Given the description of an element on the screen output the (x, y) to click on. 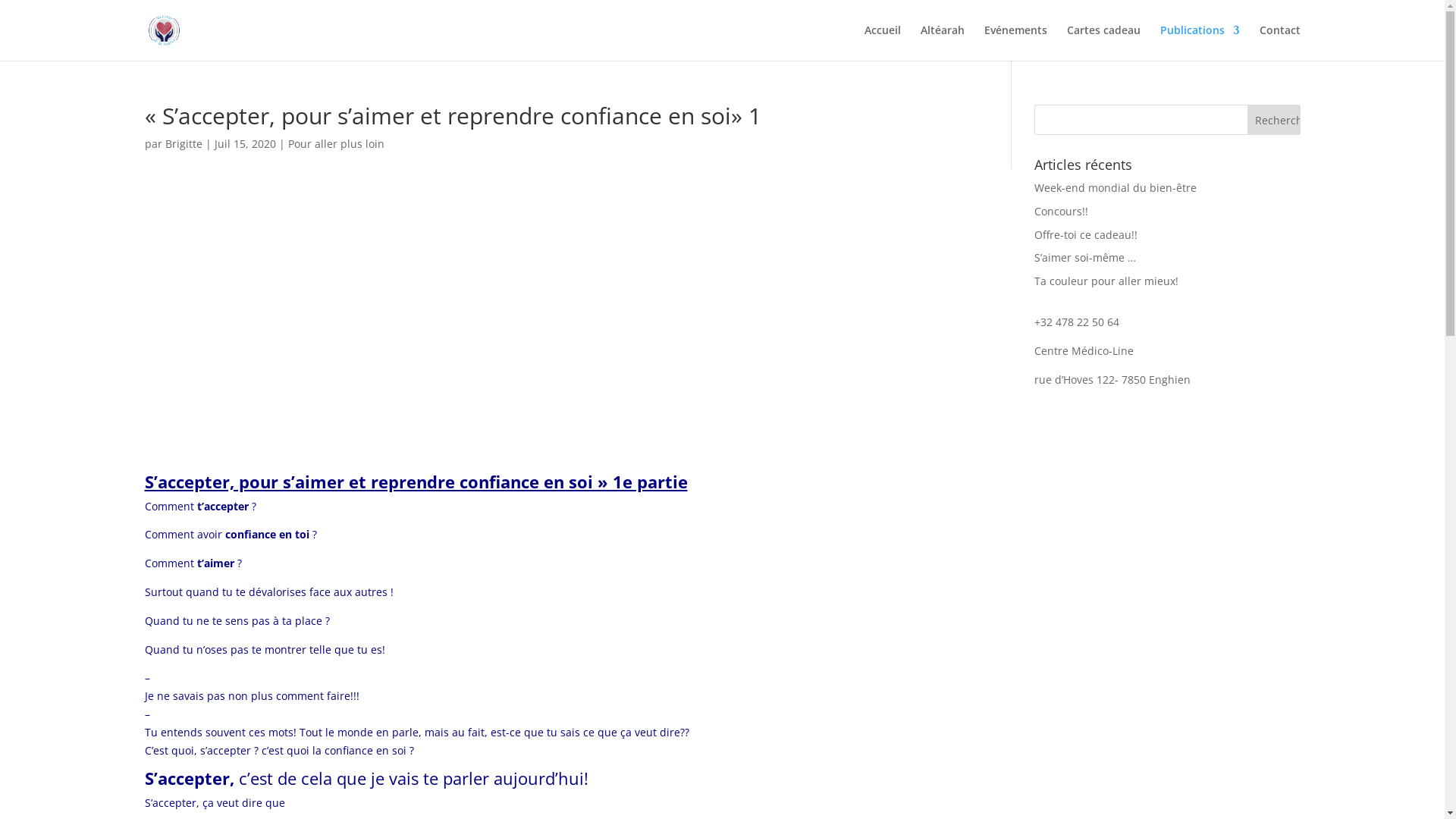
Ta couleur pour aller mieux! Element type: text (1106, 280)
Cartes cadeau Element type: text (1102, 42)
Accueil Element type: text (882, 42)
Publications Element type: text (1199, 42)
Concours!! Element type: text (1061, 210)
Pour aller plus loin Element type: text (336, 143)
Contact Element type: text (1278, 42)
Brigitte Element type: text (183, 143)
Rechercher Element type: text (1272, 119)
Offre-toi ce cadeau!! Element type: text (1085, 234)
